Given the description of an element on the screen output the (x, y) to click on. 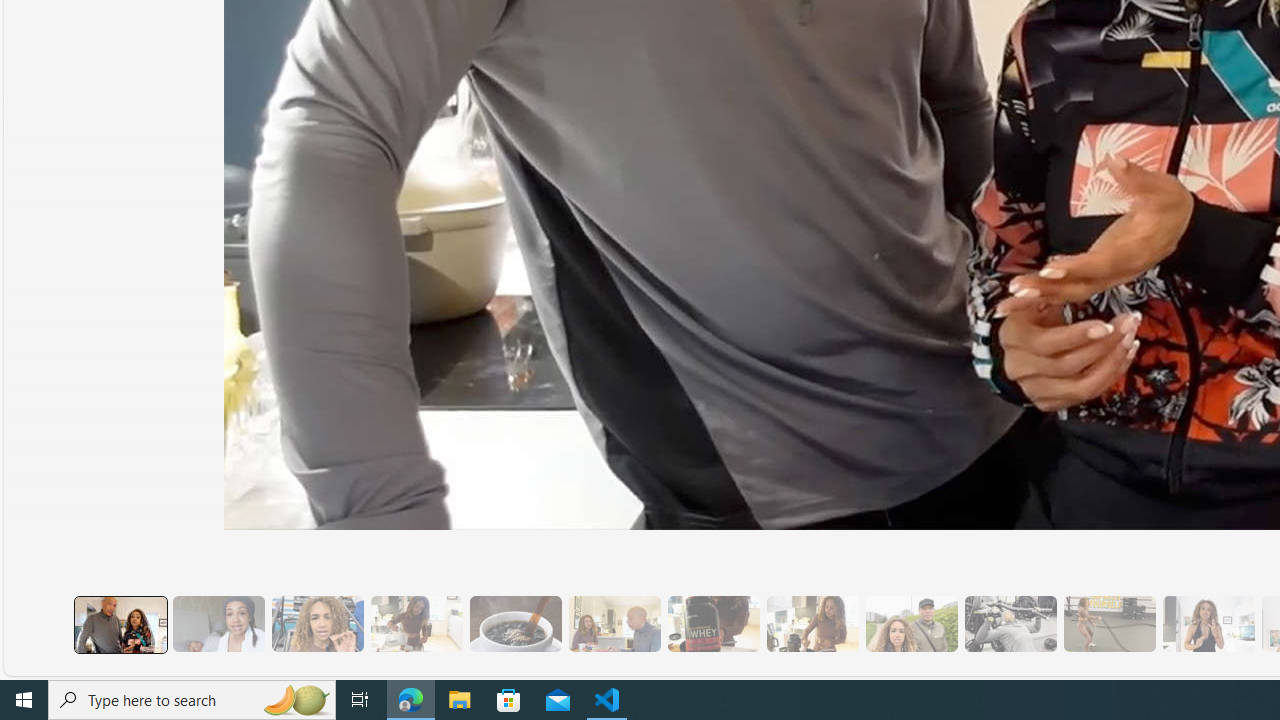
1 We Eat a Protein-Packed Pre-Workout Snack (217, 624)
1 We Eat a Protein-Packed Pre-Workout Snack (217, 624)
8 They Walk to the Gym (911, 624)
5 She Eats Less Than Her Husband (614, 624)
7 They Don't Skip Meals (811, 624)
3 They Drink Lemon Tea (416, 624)
2 They Use Protein Powder for Flavor (317, 624)
7 They Don't Skip Meals (811, 624)
6 Since Eating More Protein Her Training Has Improved (713, 624)
